Given the description of an element on the screen output the (x, y) to click on. 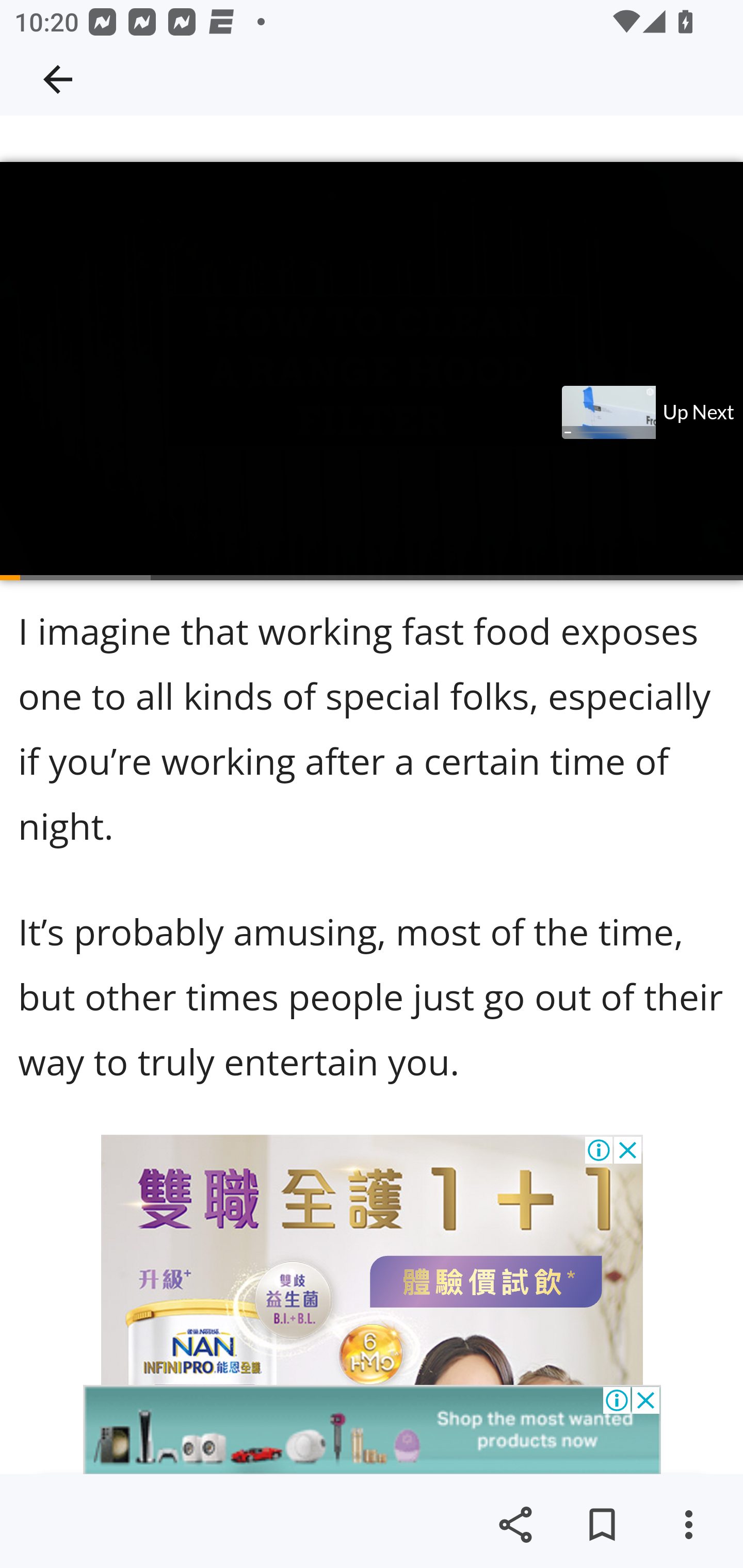
Navigate up (57, 79)
Play next video (651, 413)
Share (514, 1524)
Save for later (601, 1524)
More options (688, 1524)
